Given the description of an element on the screen output the (x, y) to click on. 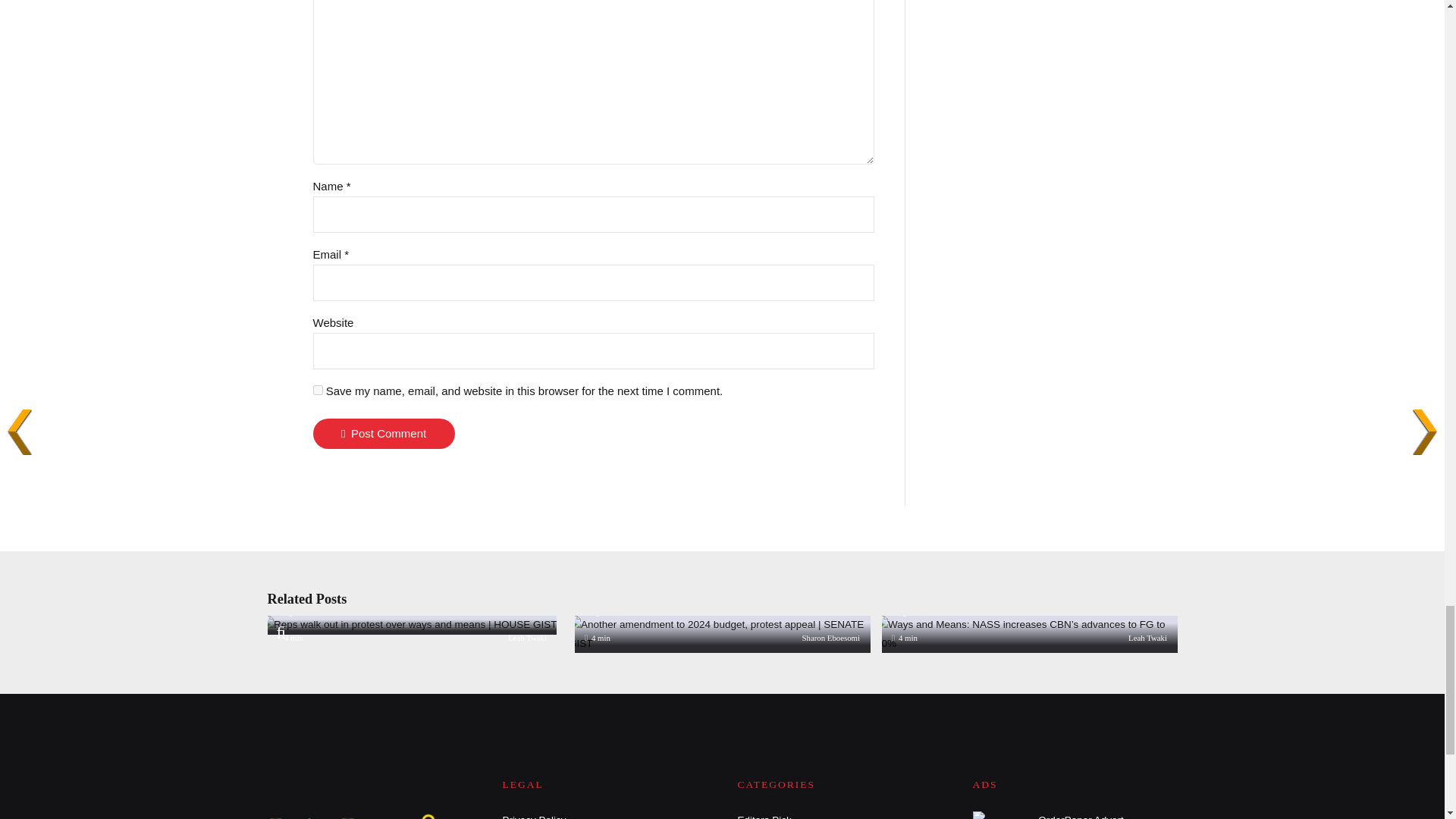
yes (317, 389)
